Given the description of an element on the screen output the (x, y) to click on. 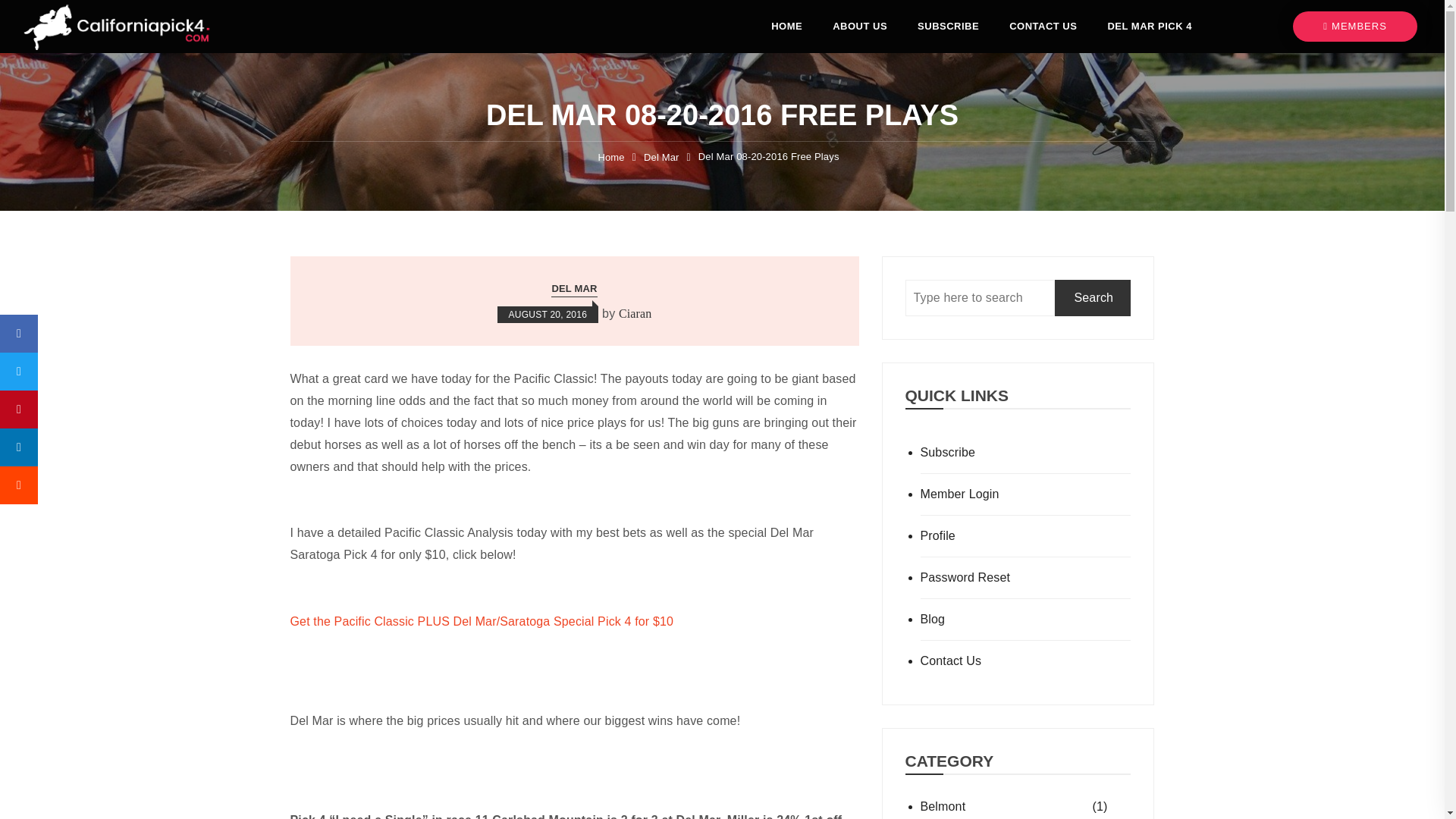
SUBSCRIBE (948, 26)
HOME (785, 26)
ABOUT US (859, 26)
Search (1092, 298)
CONTACT US (1043, 26)
Subscribe (1025, 453)
Del Mar (661, 157)
Home (610, 157)
DEL MAR (573, 289)
AUGUST 20, 2016 (547, 314)
Ciaran (635, 314)
Search (1092, 298)
DEL MAR PICK 4 (1149, 26)
MEMBERS (1354, 26)
